Given the description of an element on the screen output the (x, y) to click on. 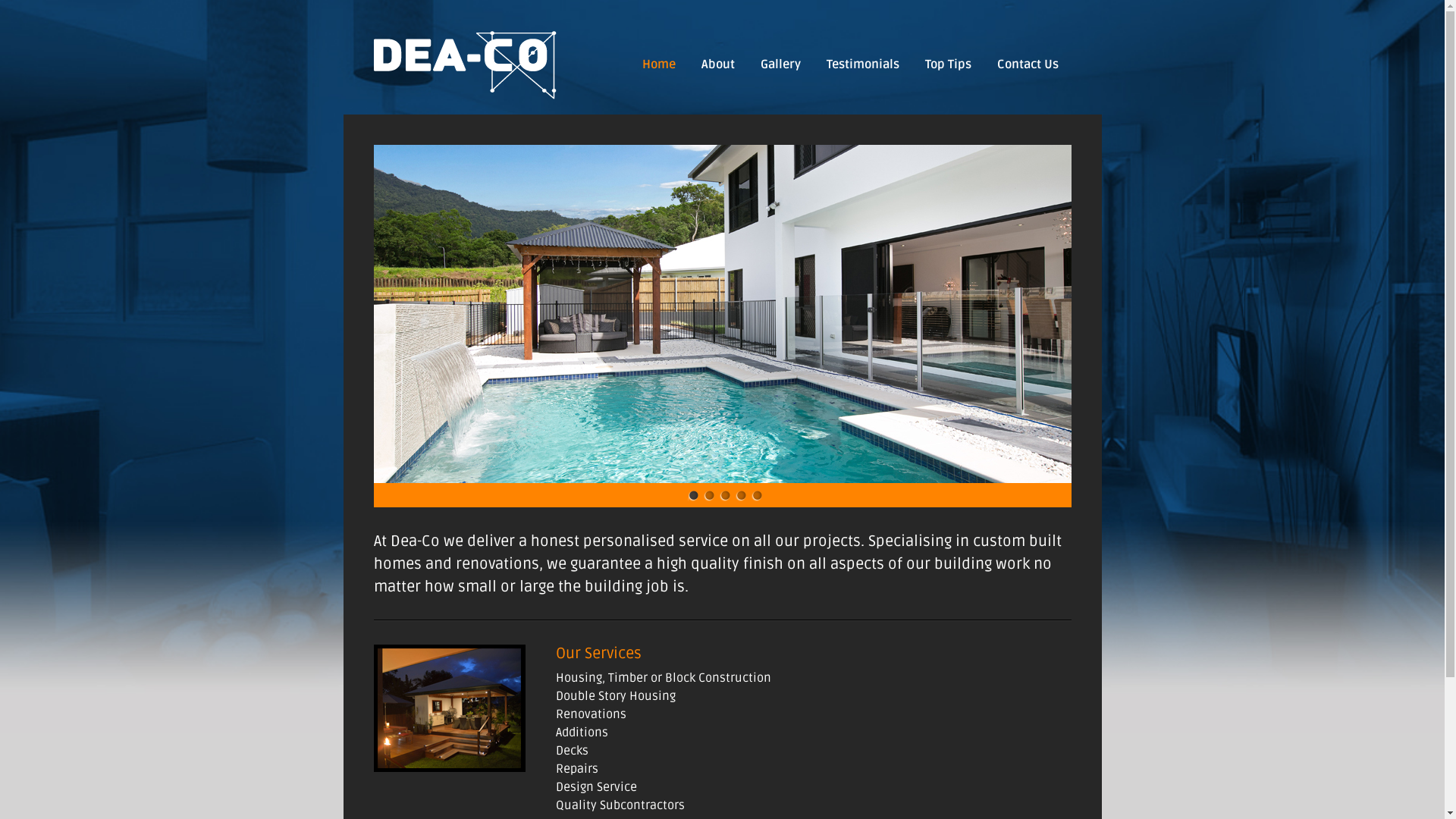
2 Element type: text (708, 495)
Contact Us Element type: text (1027, 64)
5 Element type: text (756, 495)
Testimonials Element type: text (861, 64)
1 Element type: text (692, 495)
Top Tips Element type: text (947, 64)
Home Element type: text (658, 64)
Gallery Element type: text (780, 64)
3 Element type: text (724, 495)
4 Element type: text (740, 495)
About Element type: text (717, 64)
